Given the description of an element on the screen output the (x, y) to click on. 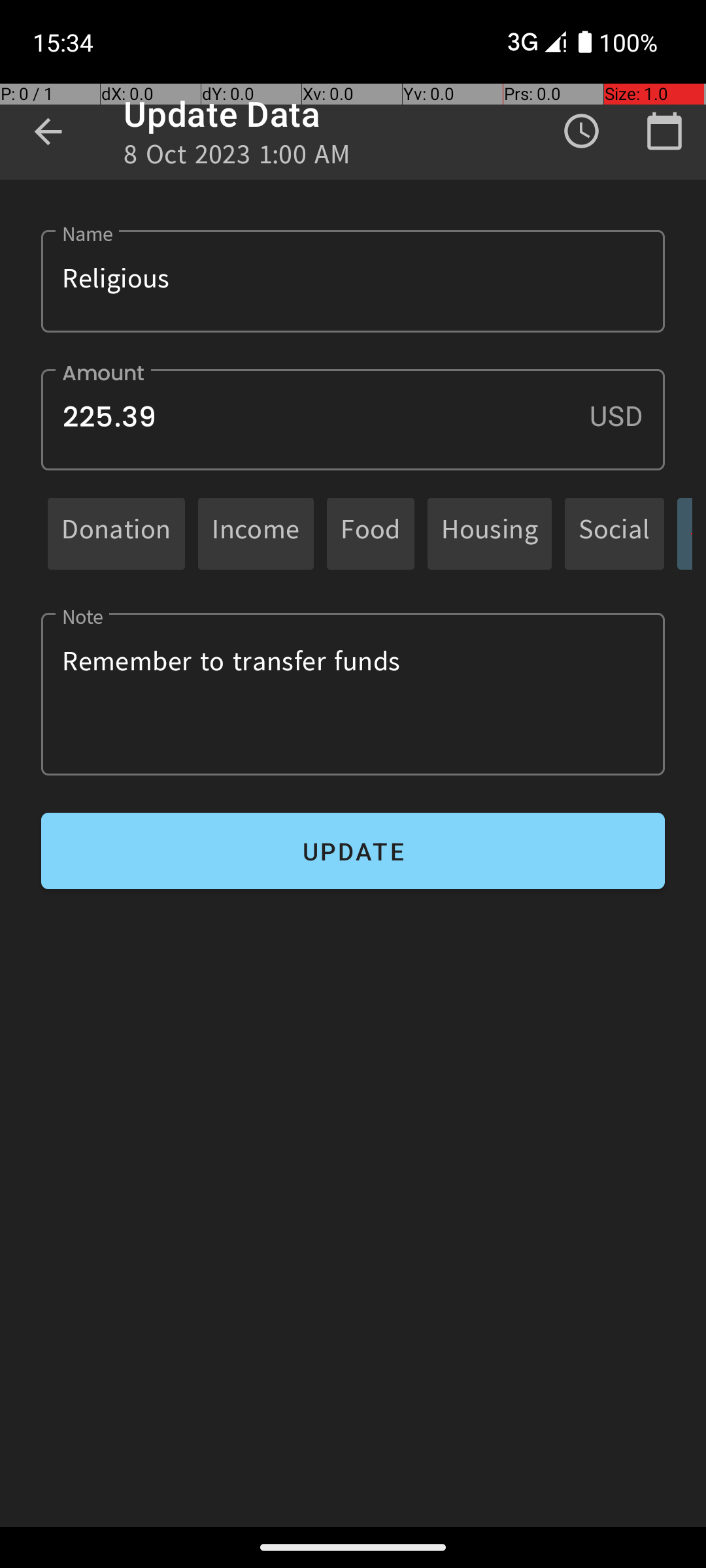
8 Oct 2023 1:00 AM Element type: android.widget.TextView (237, 157)
Religious Element type: android.widget.EditText (352, 280)
225.39 Element type: android.widget.EditText (352, 419)
Donation Element type: android.widget.TextView (116, 533)
